Given the description of an element on the screen output the (x, y) to click on. 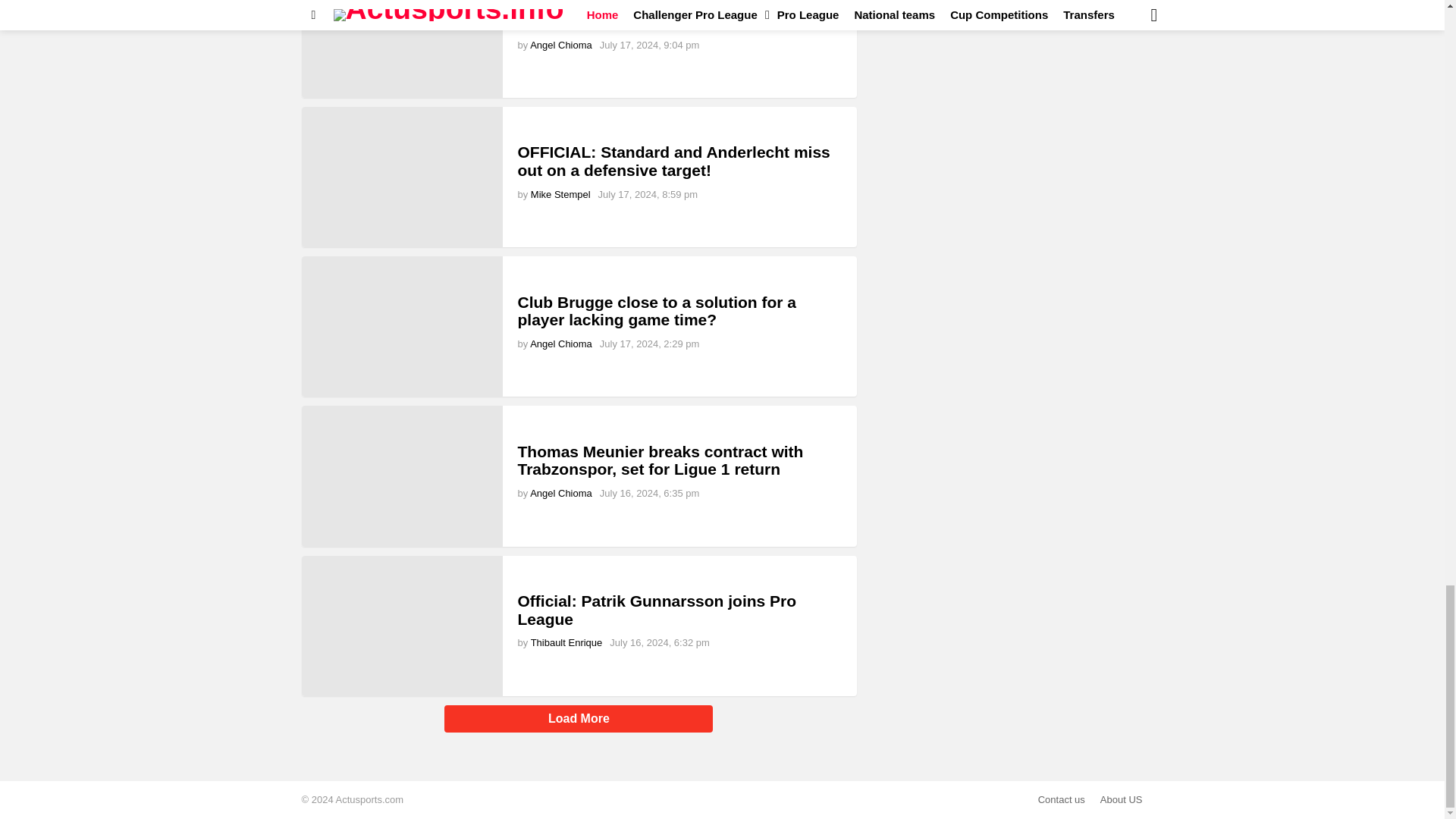
Load More (579, 723)
